Given the description of an element on the screen output the (x, y) to click on. 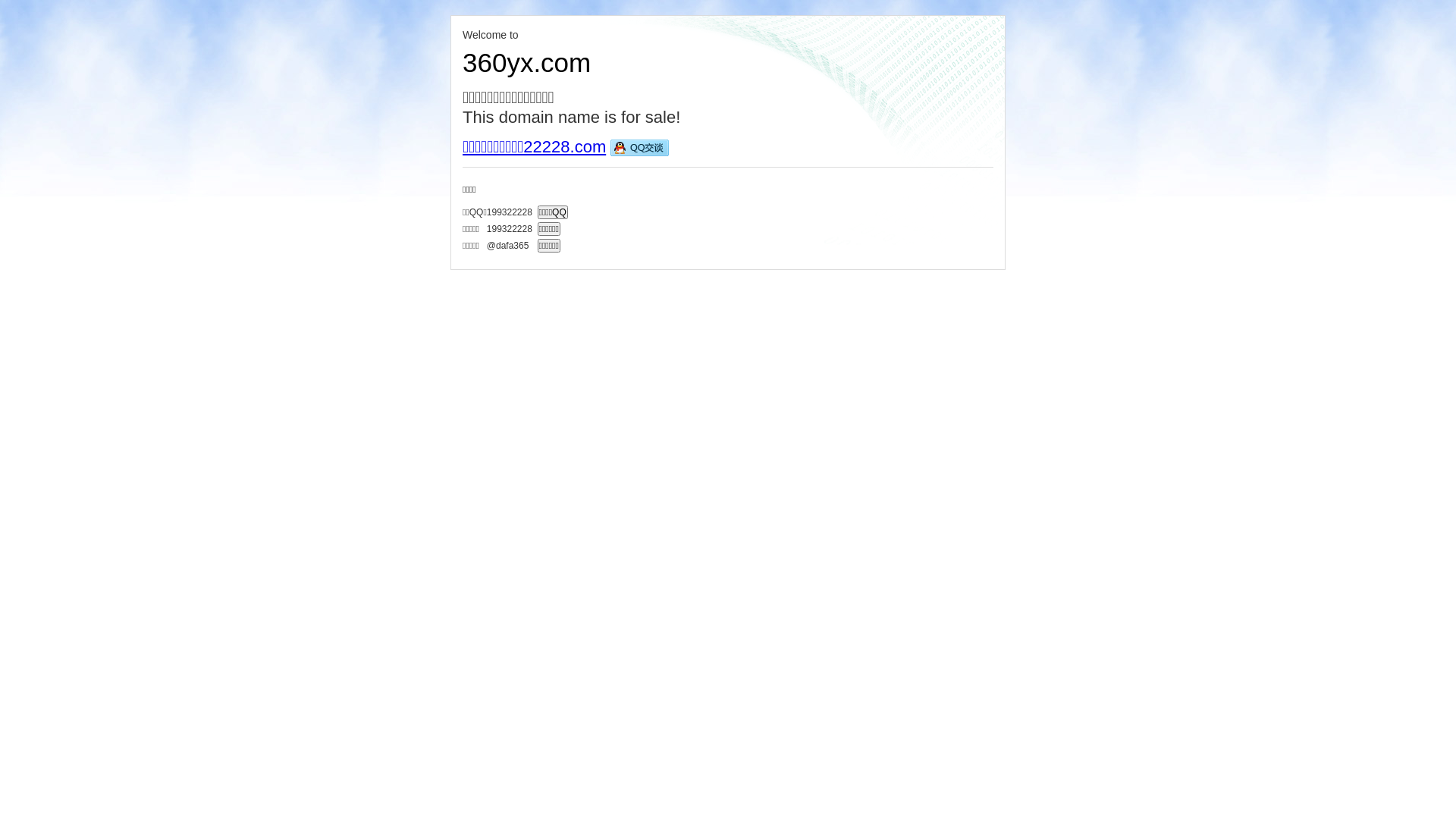
199322228 Element type: text (509, 227)
199322228 Element type: text (509, 211)
@dafa365 Element type: text (509, 244)
